Given the description of an element on the screen output the (x, y) to click on. 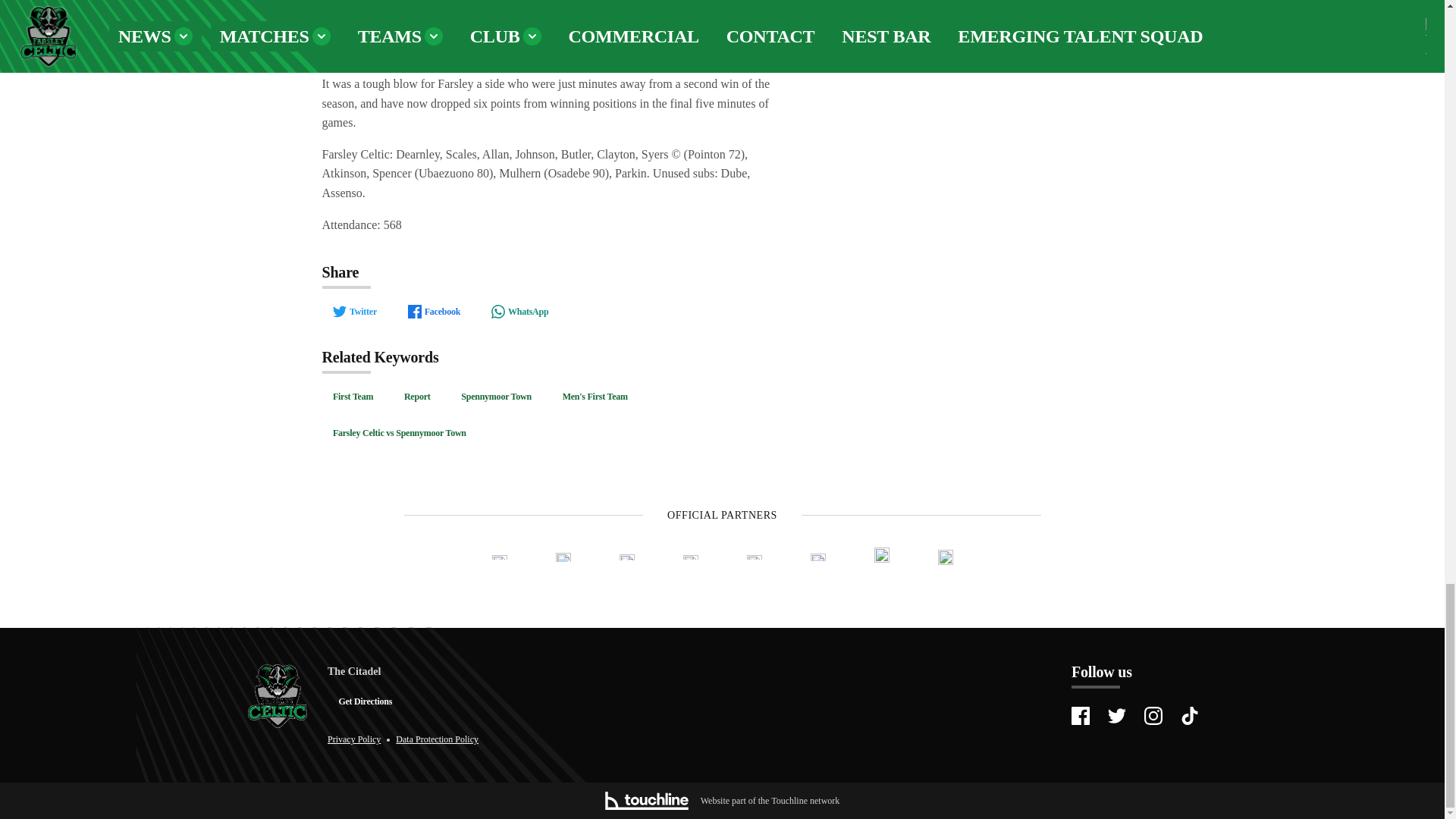
Find us on Facebook (1080, 715)
Find us on TikTok (1189, 715)
Find us on Twitter (1116, 715)
Find us on Instagram (1152, 715)
